Given the description of an element on the screen output the (x, y) to click on. 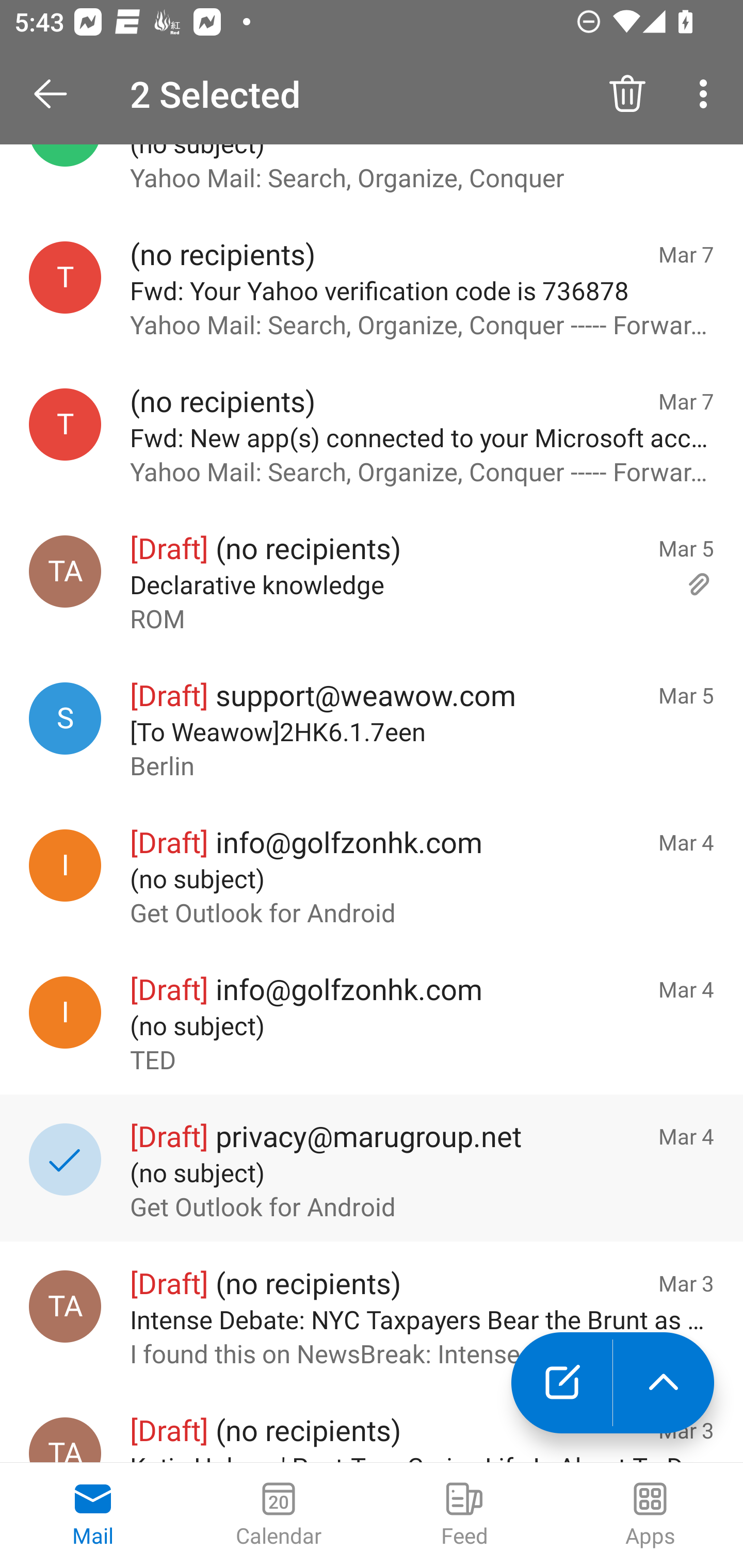
Delete (626, 93)
More options (706, 93)
Open Navigation Drawer (57, 94)
testappium002@outlook.com (64, 277)
testappium002@outlook.com (64, 424)
Test Appium, testappium002@outlook.com (64, 571)
support@weawow.com (64, 718)
info@golfzonhk.com (64, 865)
info@golfzonhk.com (64, 1012)
Test Appium, testappium002@outlook.com (64, 1306)
New mail (561, 1382)
launch the extended action menu (663, 1382)
Test Appium, testappium002@outlook.com (64, 1439)
Calendar (278, 1515)
Feed (464, 1515)
Apps (650, 1515)
